Given the description of an element on the screen output the (x, y) to click on. 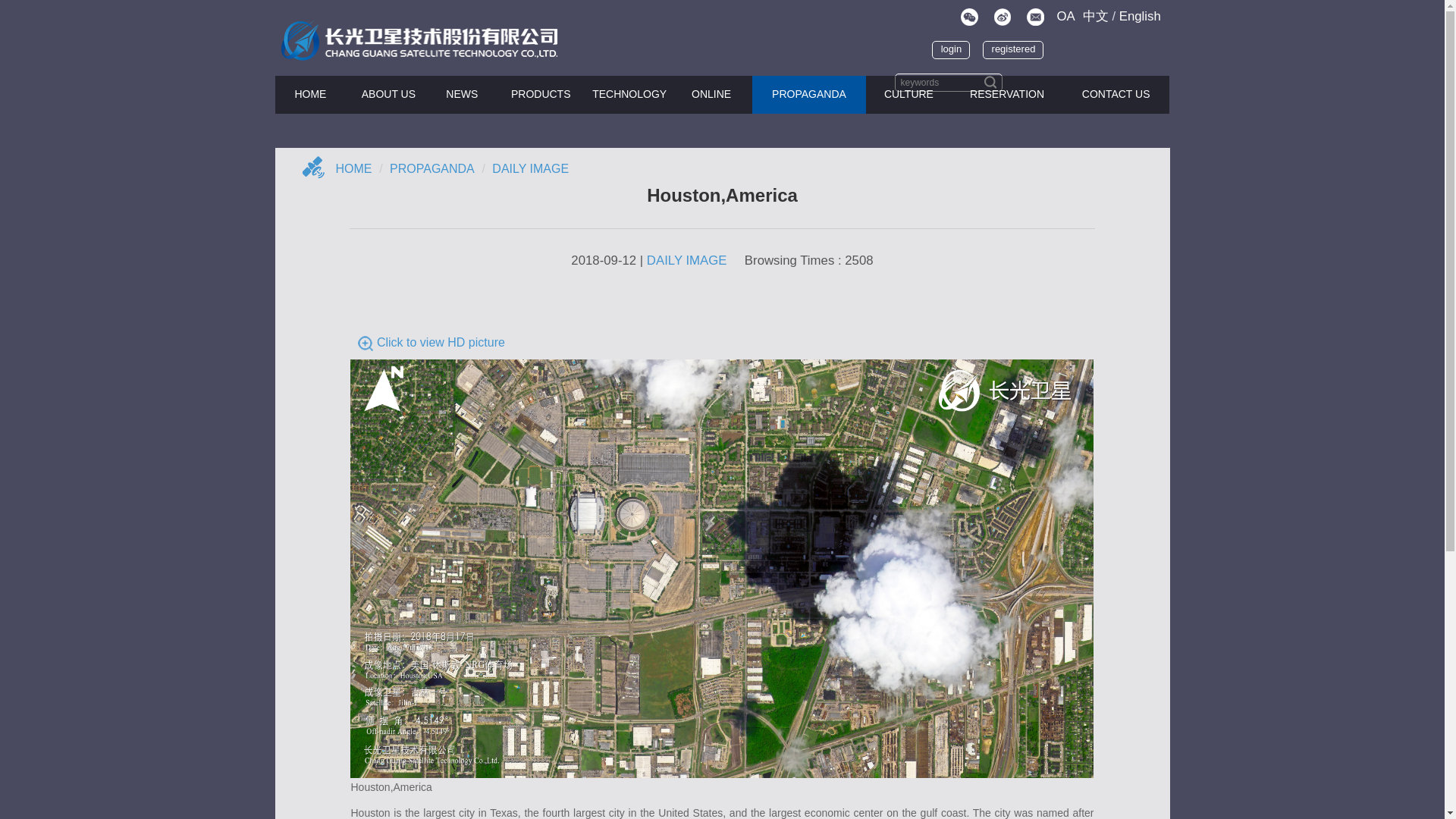
TECHNOLOGY (628, 94)
ABOUT US (388, 94)
keywords (949, 82)
OA (1065, 6)
HOME (310, 94)
NEWS (461, 94)
PROPAGANDA (809, 94)
registered (1008, 44)
login (927, 42)
ONLINE (710, 94)
